Given the description of an element on the screen output the (x, y) to click on. 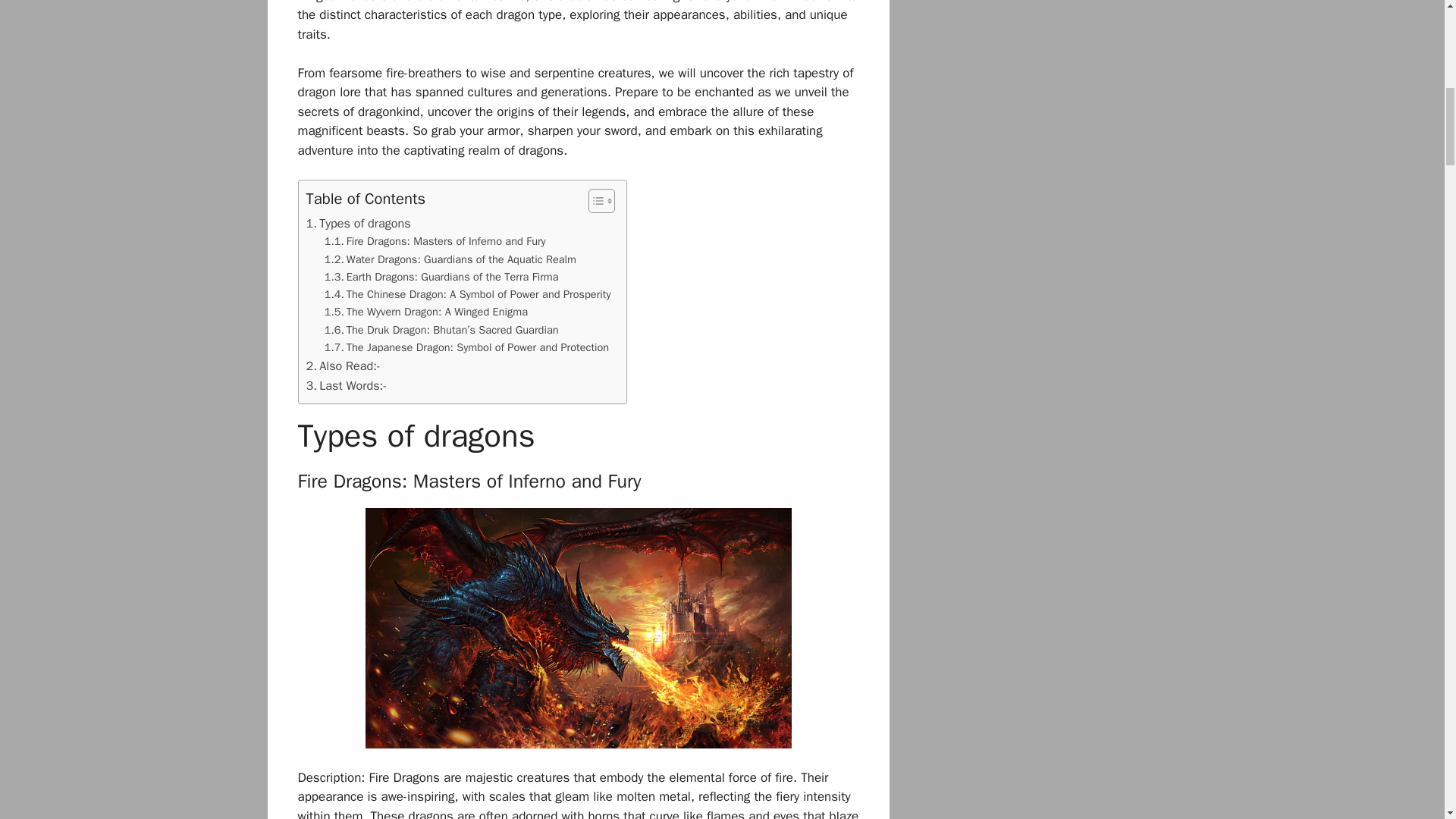
Fire Dragons: Masters of Inferno and Fury (435, 241)
The Chinese Dragon: A Symbol of Power and Prosperity (467, 294)
The Chinese Dragon: A Symbol of Power and Prosperity (467, 294)
Earth Dragons: Guardians of the Terra Firma (441, 276)
Last Words:- (346, 385)
Earth Dragons: Guardians of the Terra Firma (441, 276)
Also Read:- (342, 365)
Water Dragons: Guardians of the Aquatic Realm (450, 259)
Fire Dragons: Masters of Inferno and Fury (435, 241)
Last Words:- (346, 385)
